Given the description of an element on the screen output the (x, y) to click on. 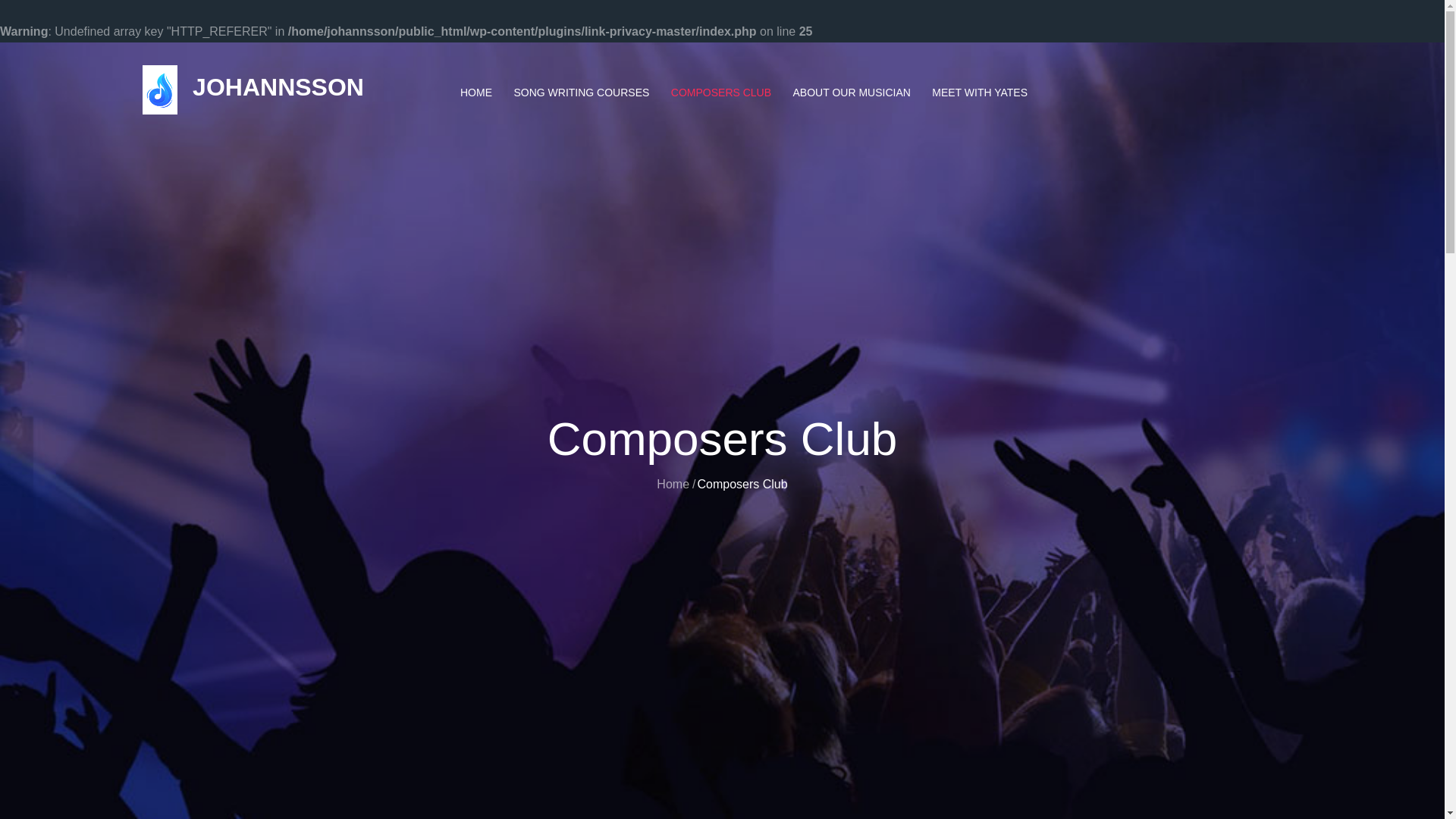
HOME (475, 92)
MEET WITH YATES (979, 92)
JOHANNSSON (278, 86)
SONG WRITING COURSES (580, 92)
COMPOSERS CLUB (721, 92)
ABOUT OUR MUSICIAN (852, 92)
Home (672, 483)
